Given the description of an element on the screen output the (x, y) to click on. 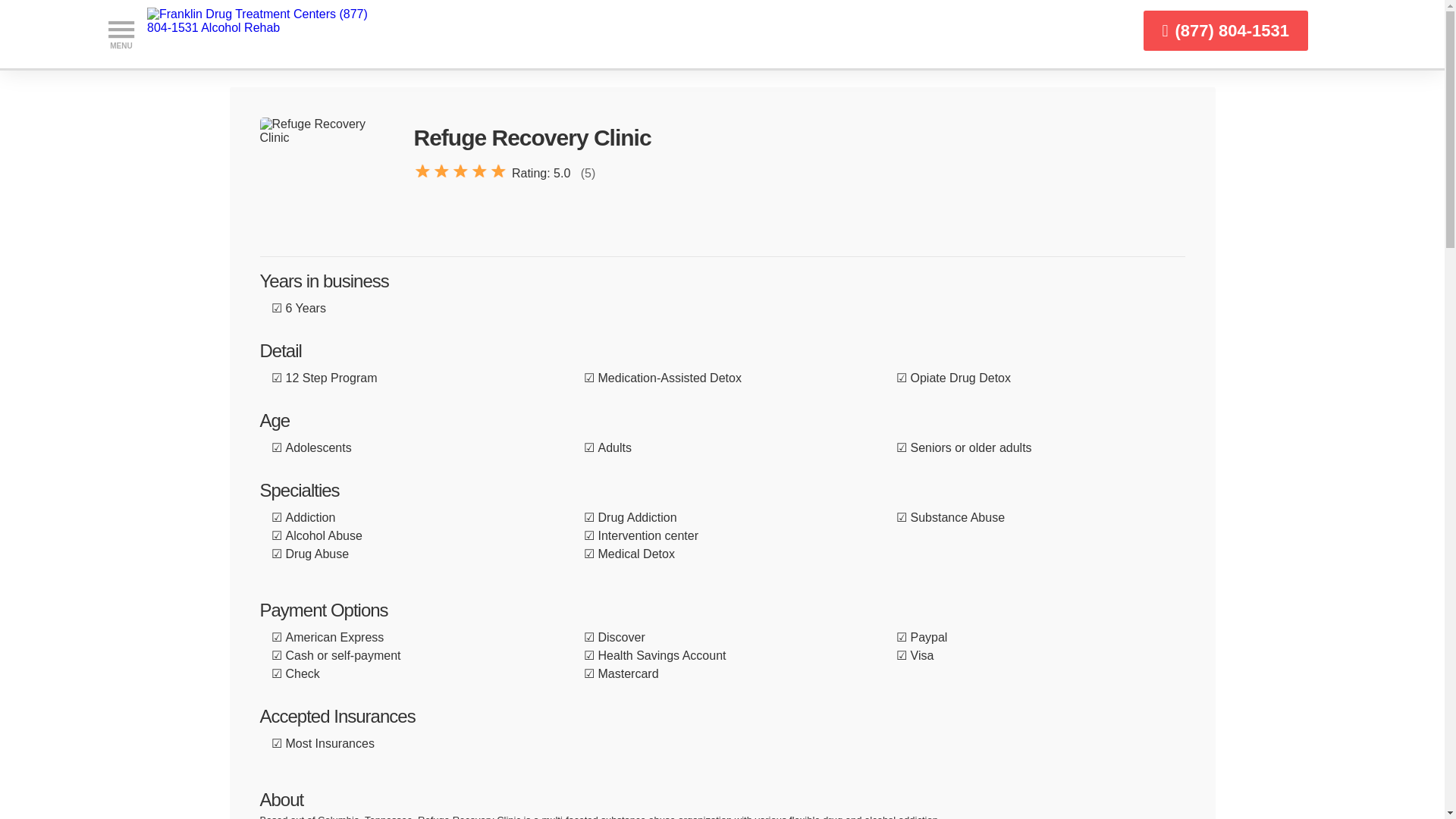
Refuge Recovery Clinic (324, 182)
